Given the description of an element on the screen output the (x, y) to click on. 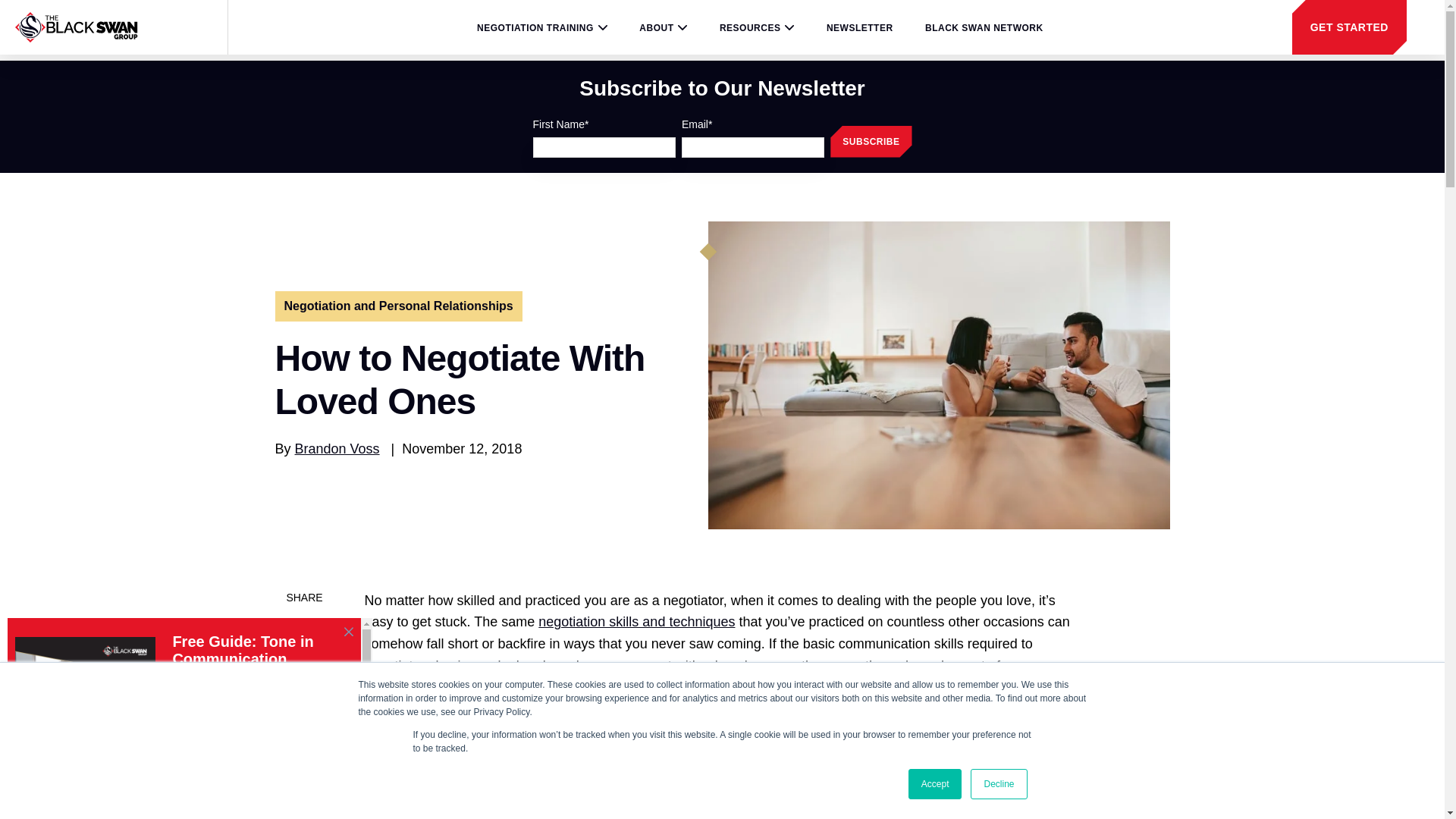
The Black Swan Group (76, 27)
SUBSCRIBE (870, 142)
Popup CTA (189, 714)
RESOURCES (756, 28)
ABOUT (662, 28)
reCAPTCHA (1331, 780)
Decline (998, 784)
Accept (935, 784)
NEGOTIATION TRAINING (542, 28)
